Given the description of an element on the screen output the (x, y) to click on. 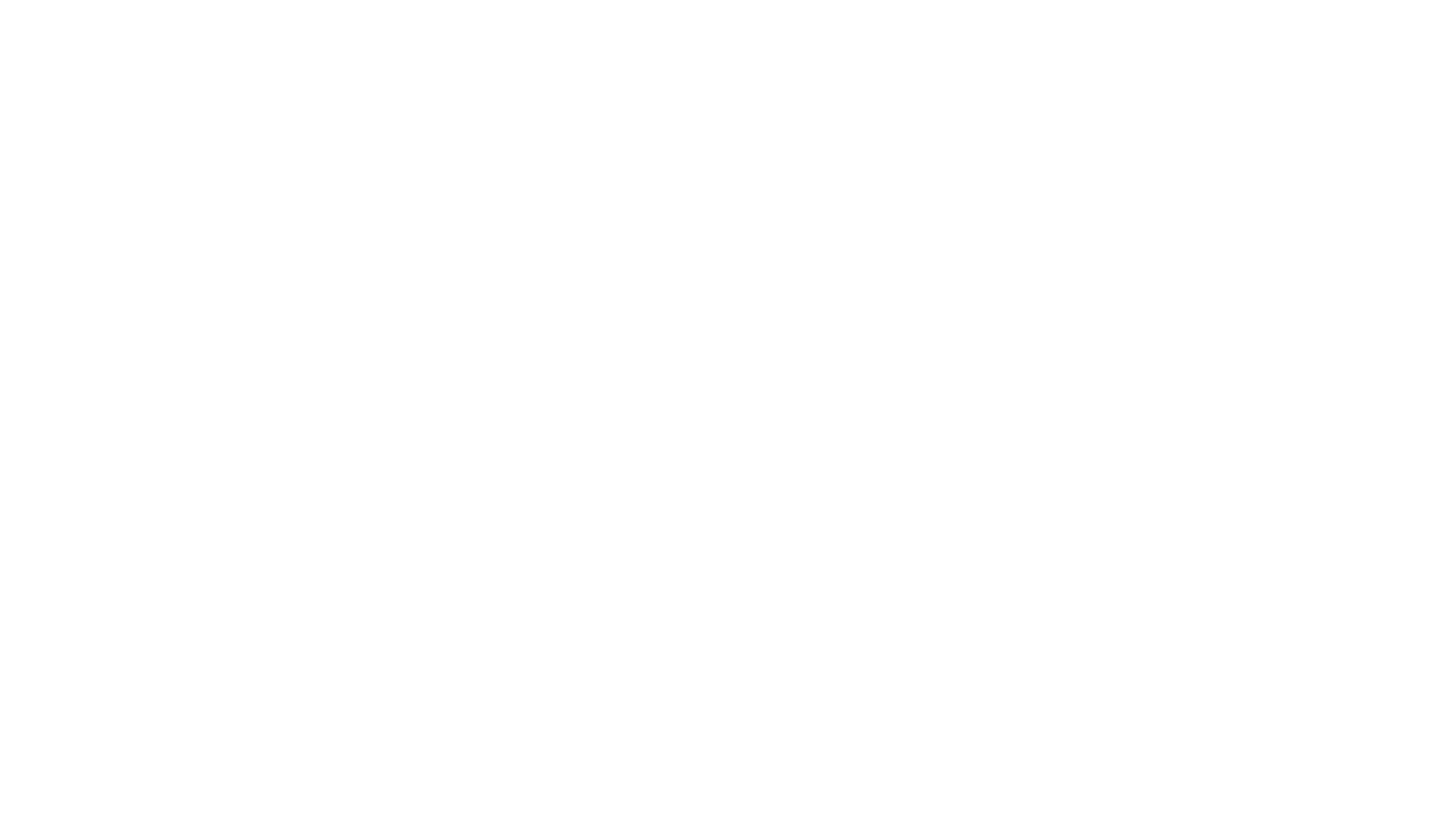
Recherche Element type: text (1090, 351)
